Given the description of an element on the screen output the (x, y) to click on. 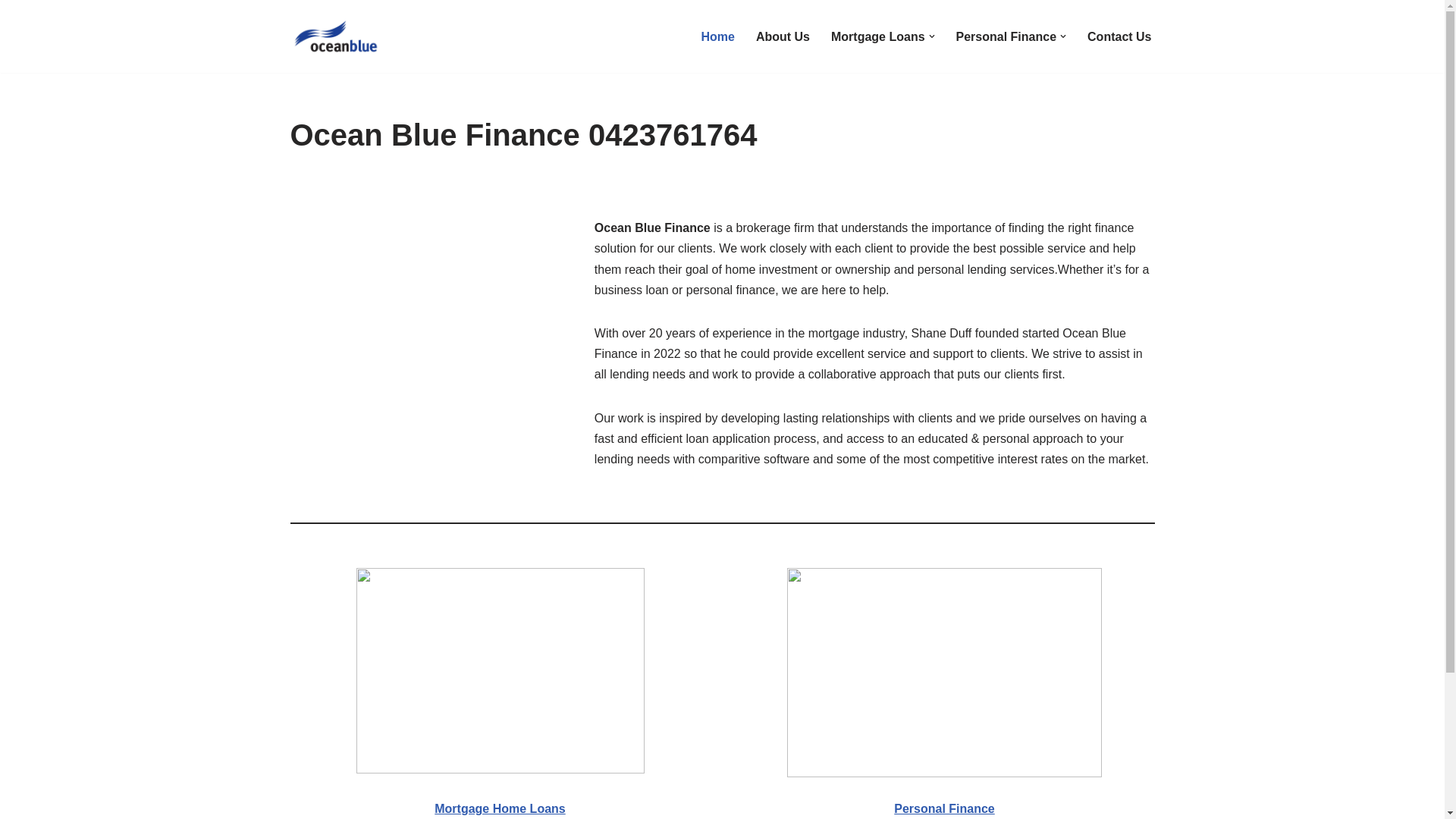
Mortgage Home Loans Element type: text (499, 808)
Home Element type: text (717, 36)
Personal Finance Element type: text (944, 808)
About Us Element type: text (782, 36)
Contact Us Element type: text (1119, 36)
Skip to content Element type: text (11, 31)
Personal Finance Element type: text (1006, 36)
Mortgage Loans Element type: text (878, 36)
